Given the description of an element on the screen output the (x, y) to click on. 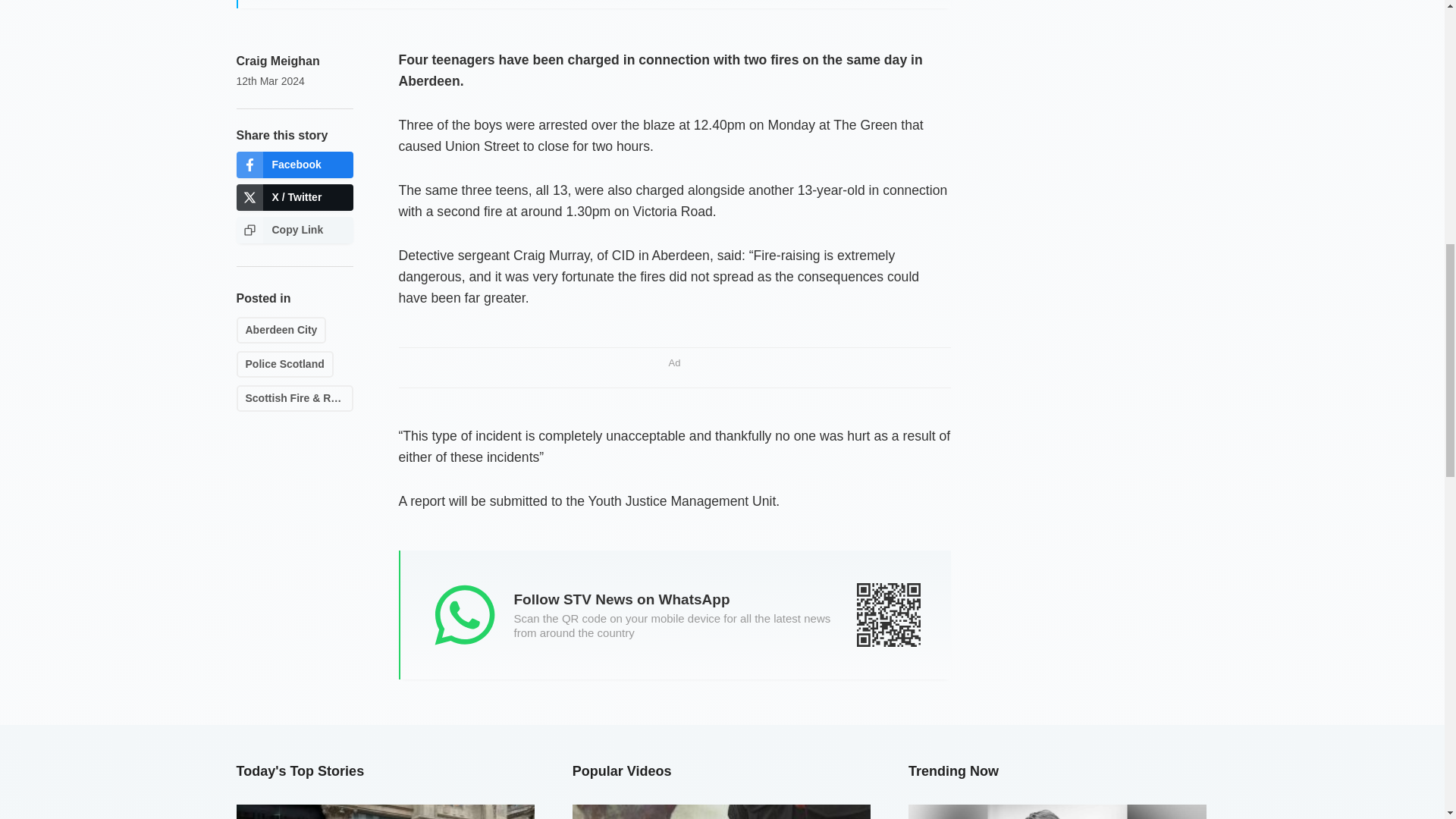
Craig Meighan (277, 60)
